Given the description of an element on the screen output the (x, y) to click on. 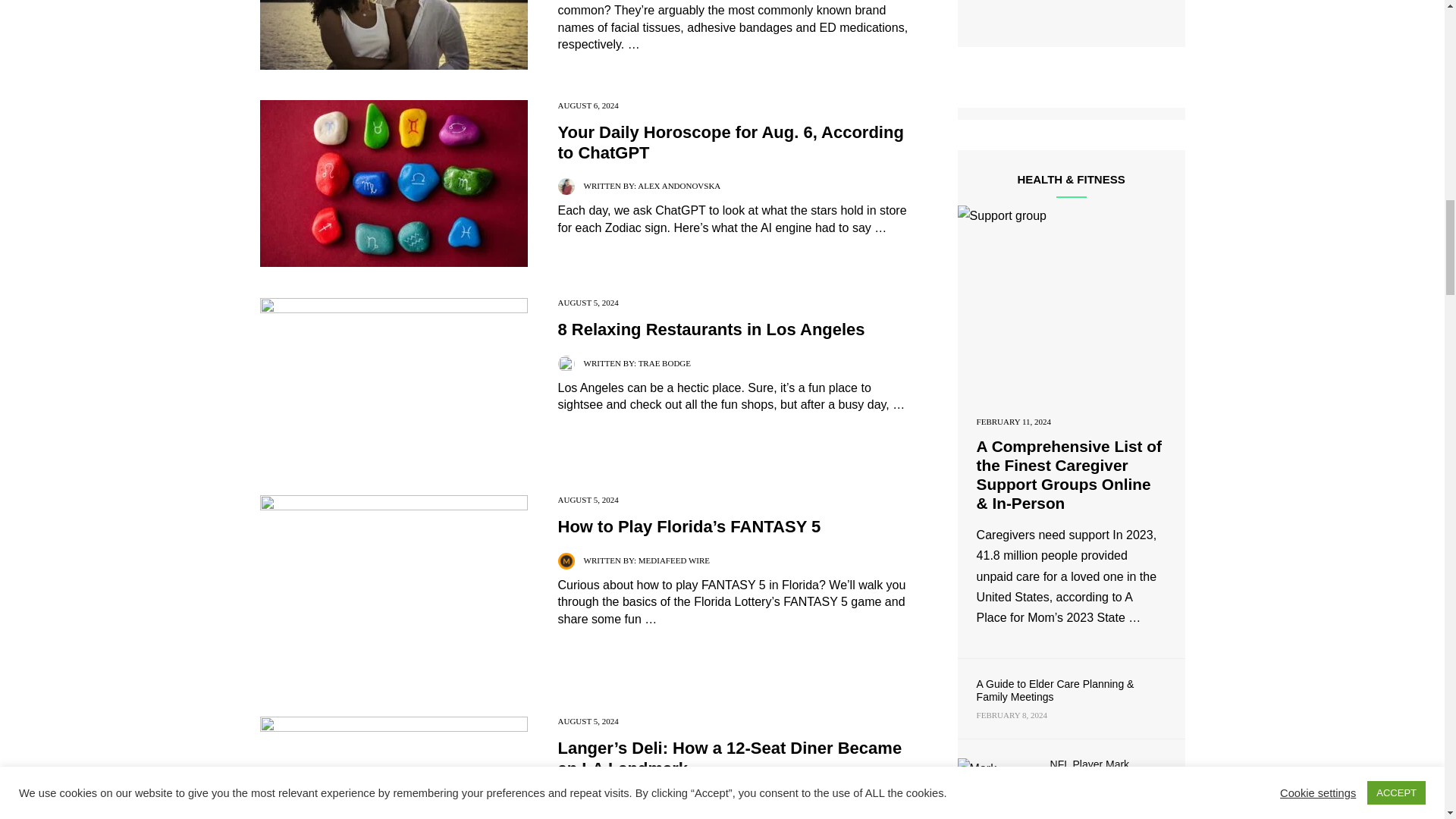
Posts by Trae Bodge (664, 362)
Posts by Norm Langer and Dan Myers (704, 800)
Posts by MediaFeed Wire (674, 560)
Posts by Alex Andonovska (678, 185)
